Given the description of an element on the screen output the (x, y) to click on. 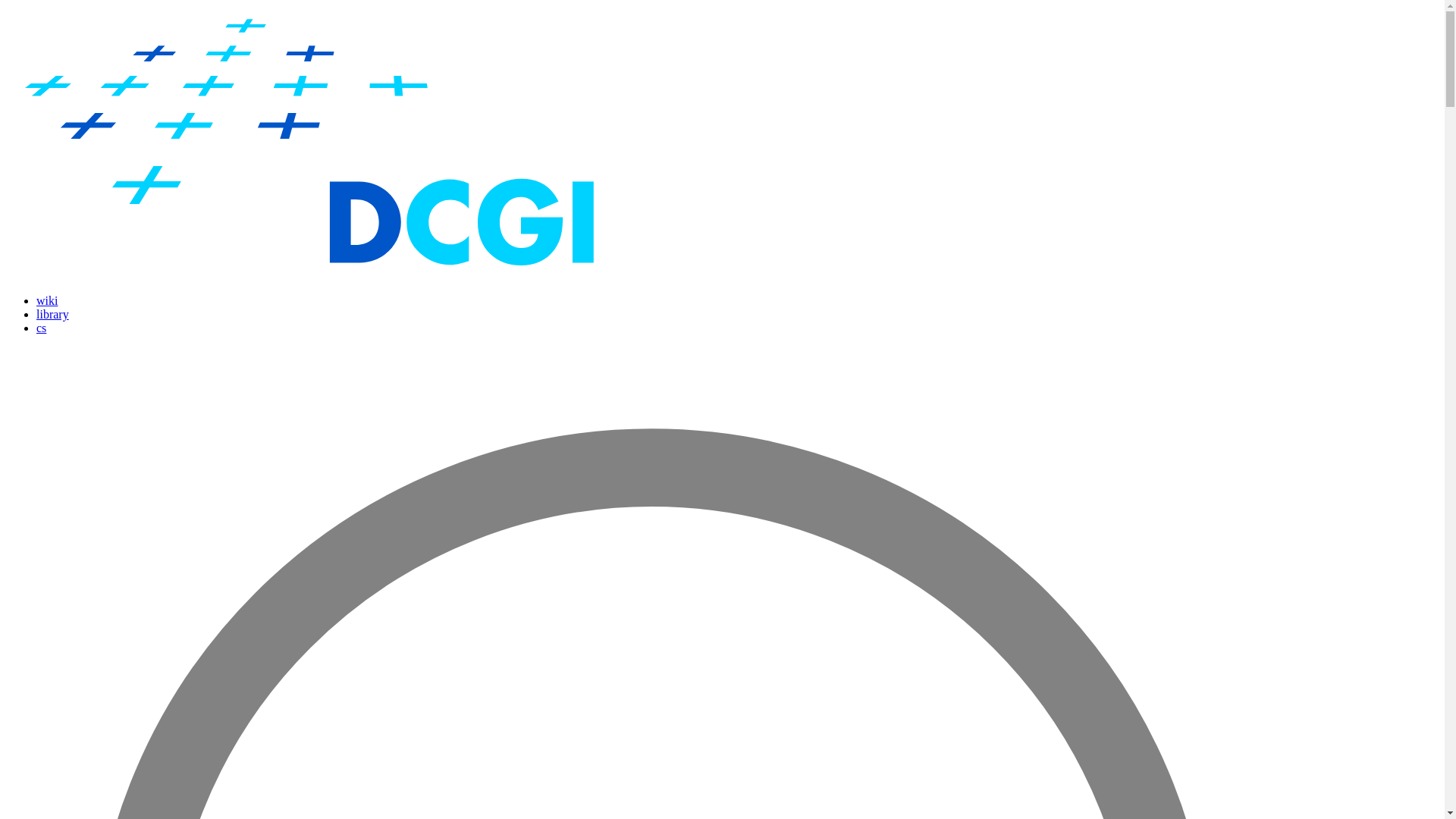
library (52, 314)
wiki (47, 300)
